Given the description of an element on the screen output the (x, y) to click on. 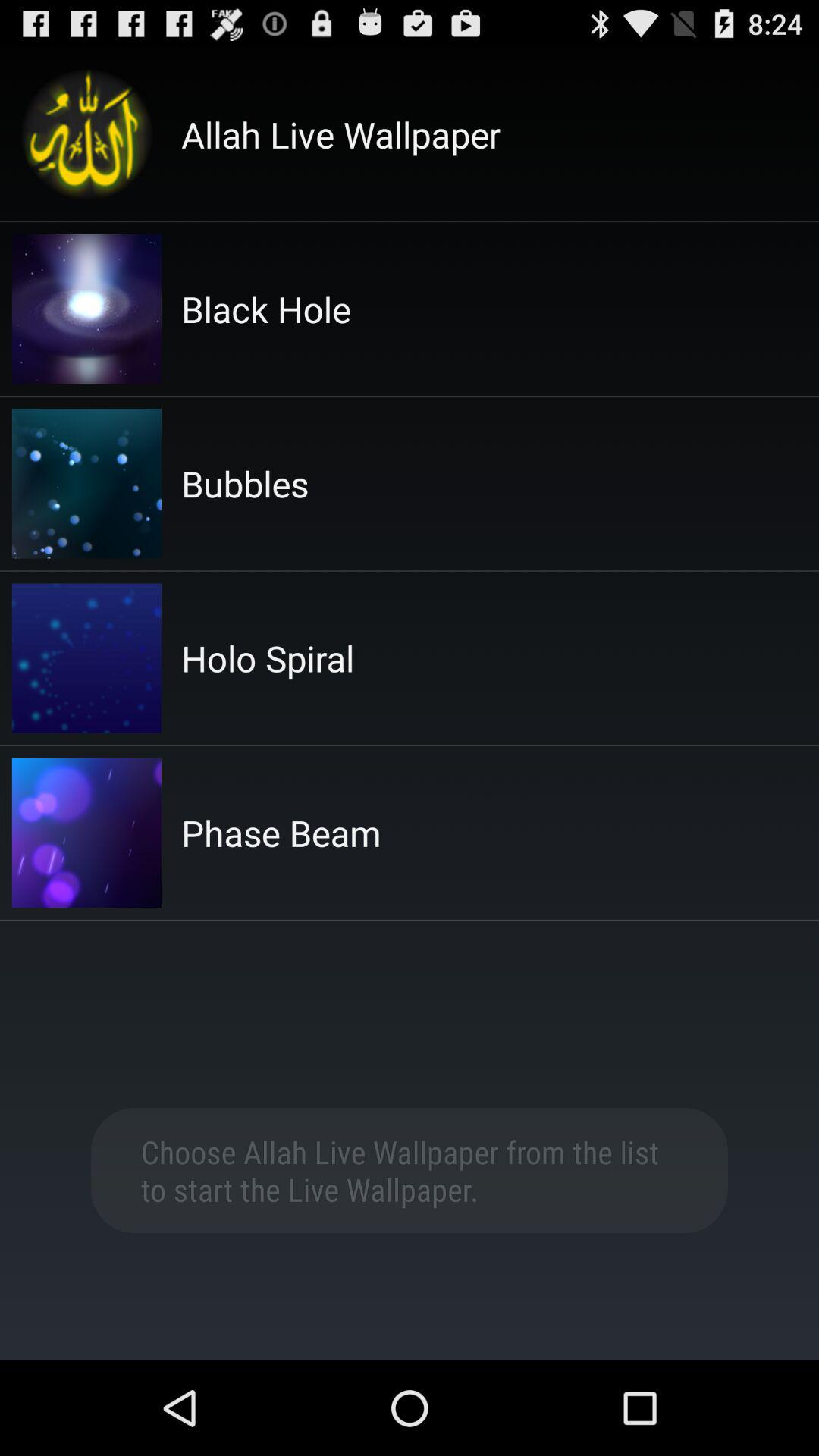
swipe until phase beam app (281, 832)
